Given the description of an element on the screen output the (x, y) to click on. 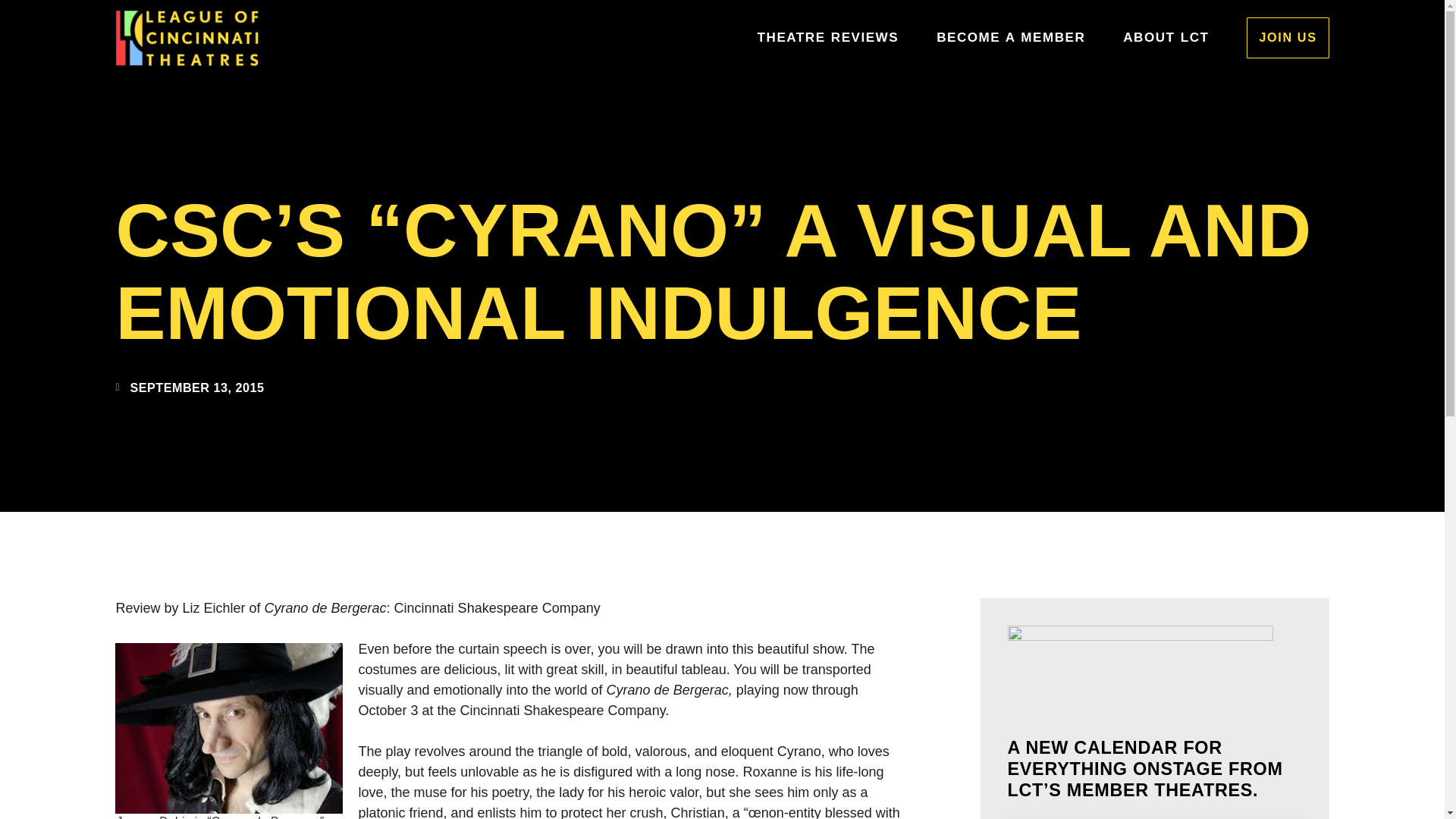
ABOUT LCT (1165, 37)
BECOME A MEMBER (1010, 37)
SEPTEMBER 13, 2015 (189, 387)
JOIN US (1286, 37)
THEATRE REVIEWS (828, 37)
